Given the description of an element on the screen output the (x, y) to click on. 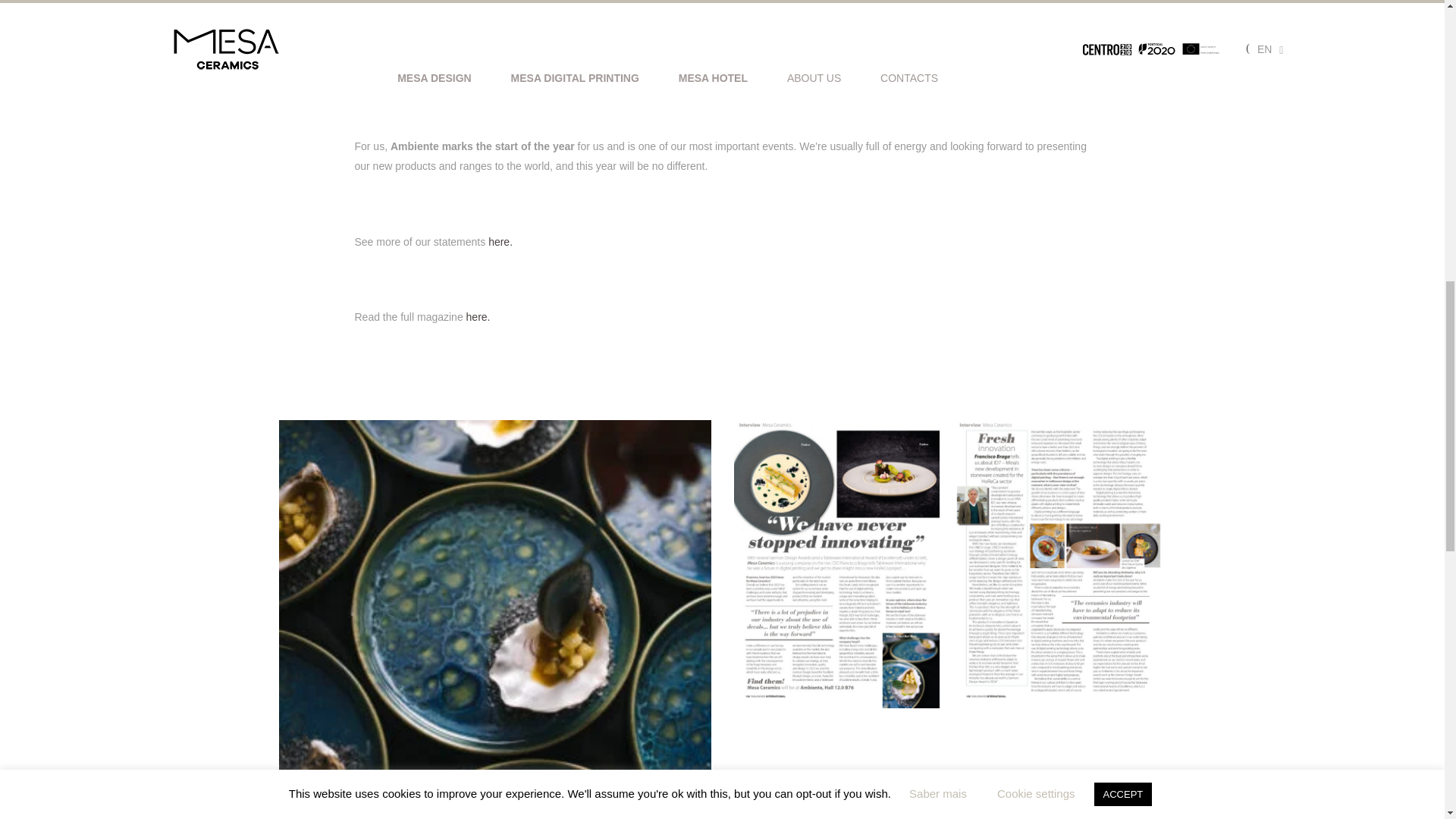
here. (499, 241)
here. (476, 316)
